Given the description of an element on the screen output the (x, y) to click on. 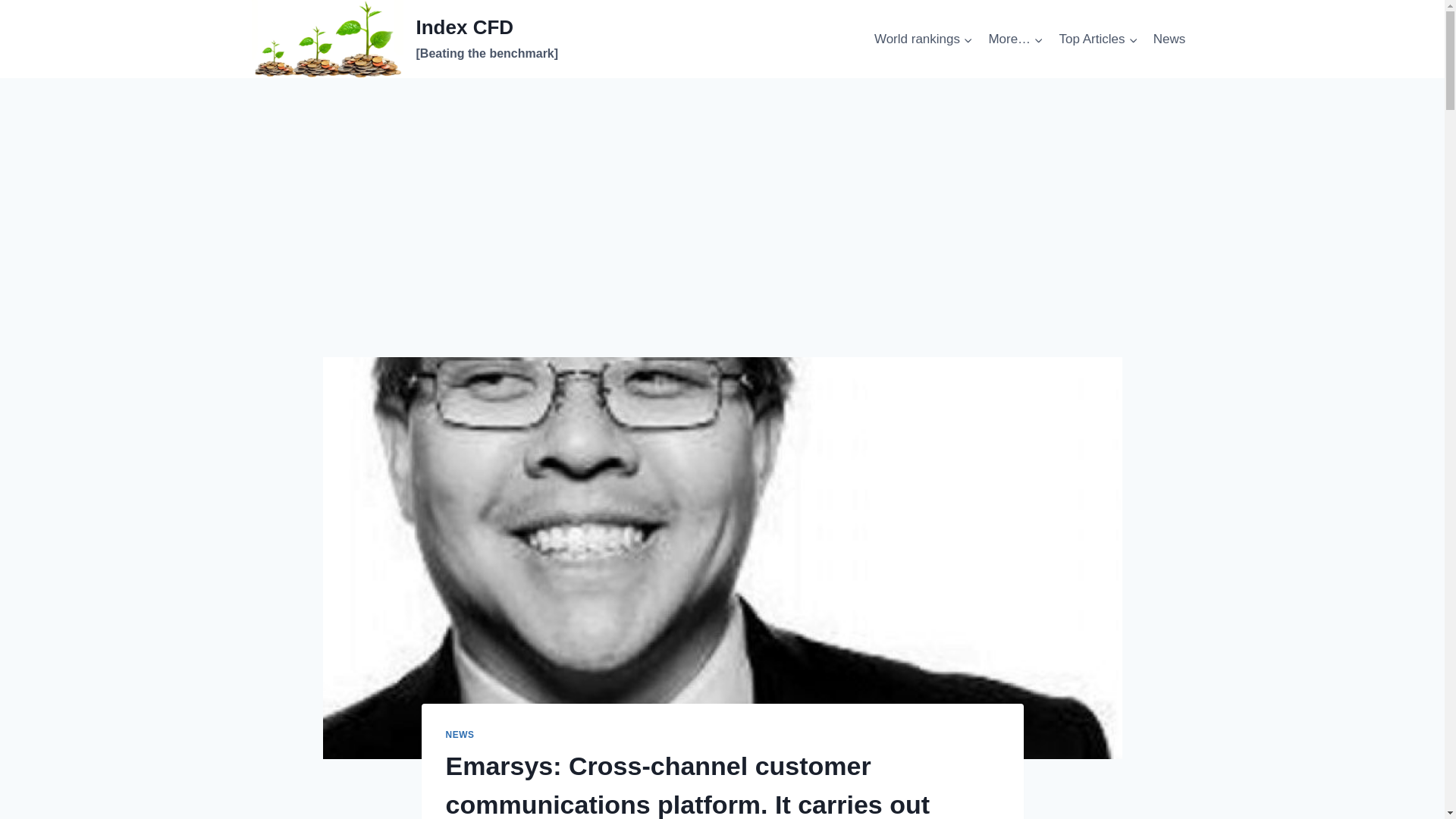
World rankings (922, 39)
Advertisement (722, 244)
NEWS (459, 734)
News (1169, 39)
Top Articles (1097, 39)
